Given the description of an element on the screen output the (x, y) to click on. 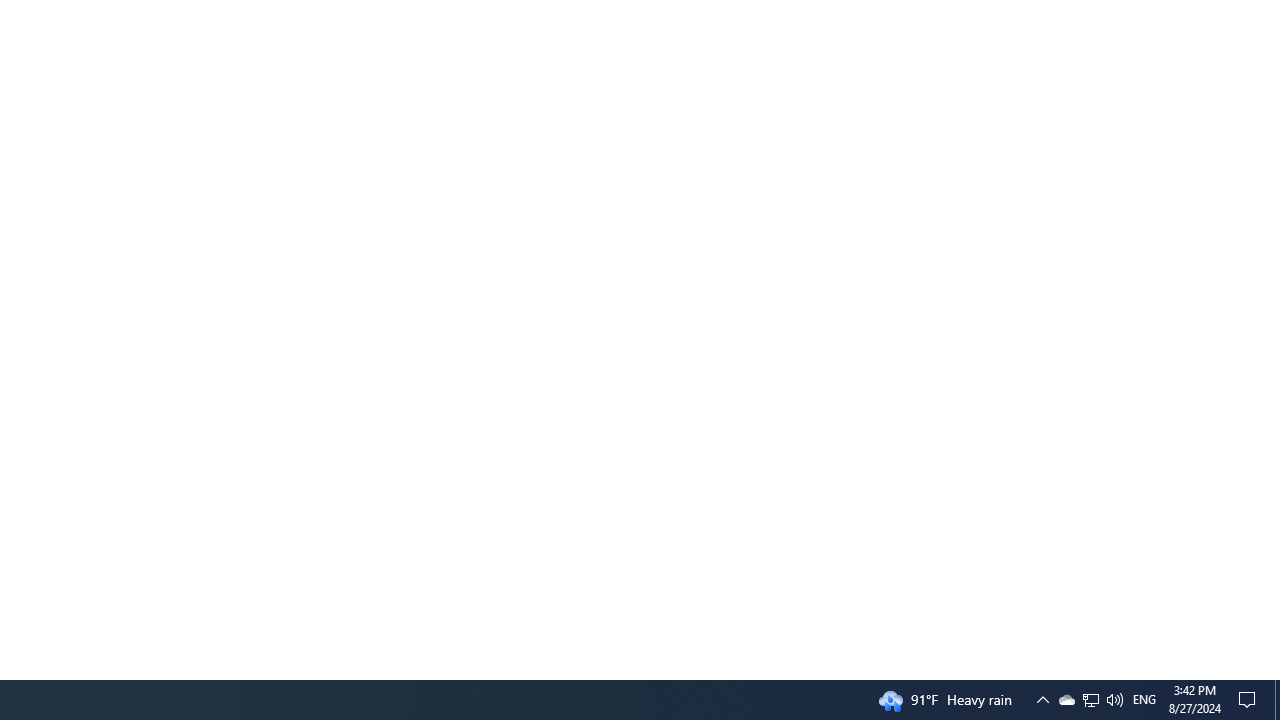
Tray Input Indicator - English (United States) (1144, 699)
